Given the description of an element on the screen output the (x, y) to click on. 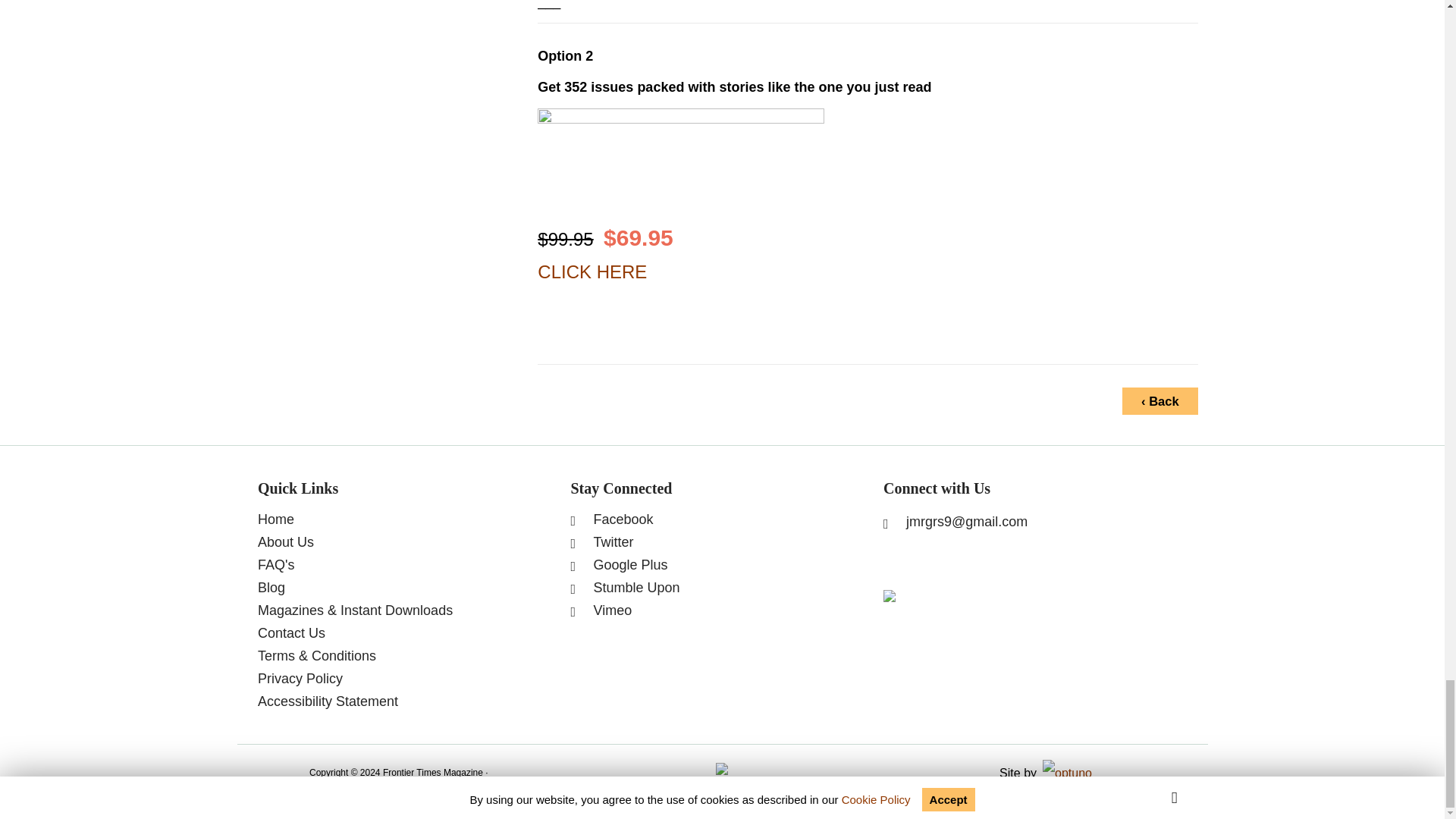
CLICK HERE (591, 271)
